Given the description of an element on the screen output the (x, y) to click on. 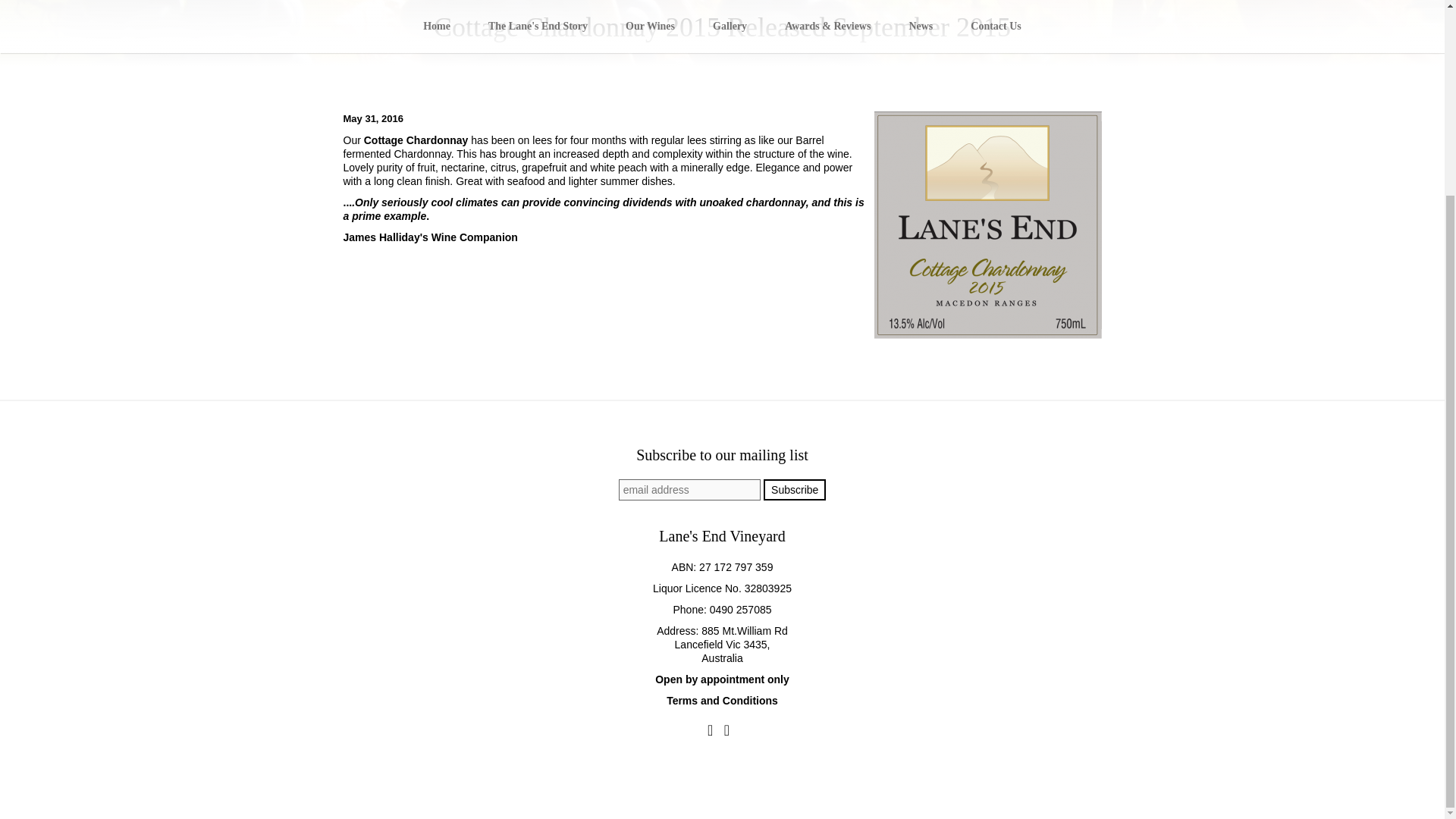
Instagram (726, 729)
Terms and Conditions (721, 700)
Subscribe (793, 489)
Facebook (710, 729)
Subscribe (793, 489)
